Given the description of an element on the screen output the (x, y) to click on. 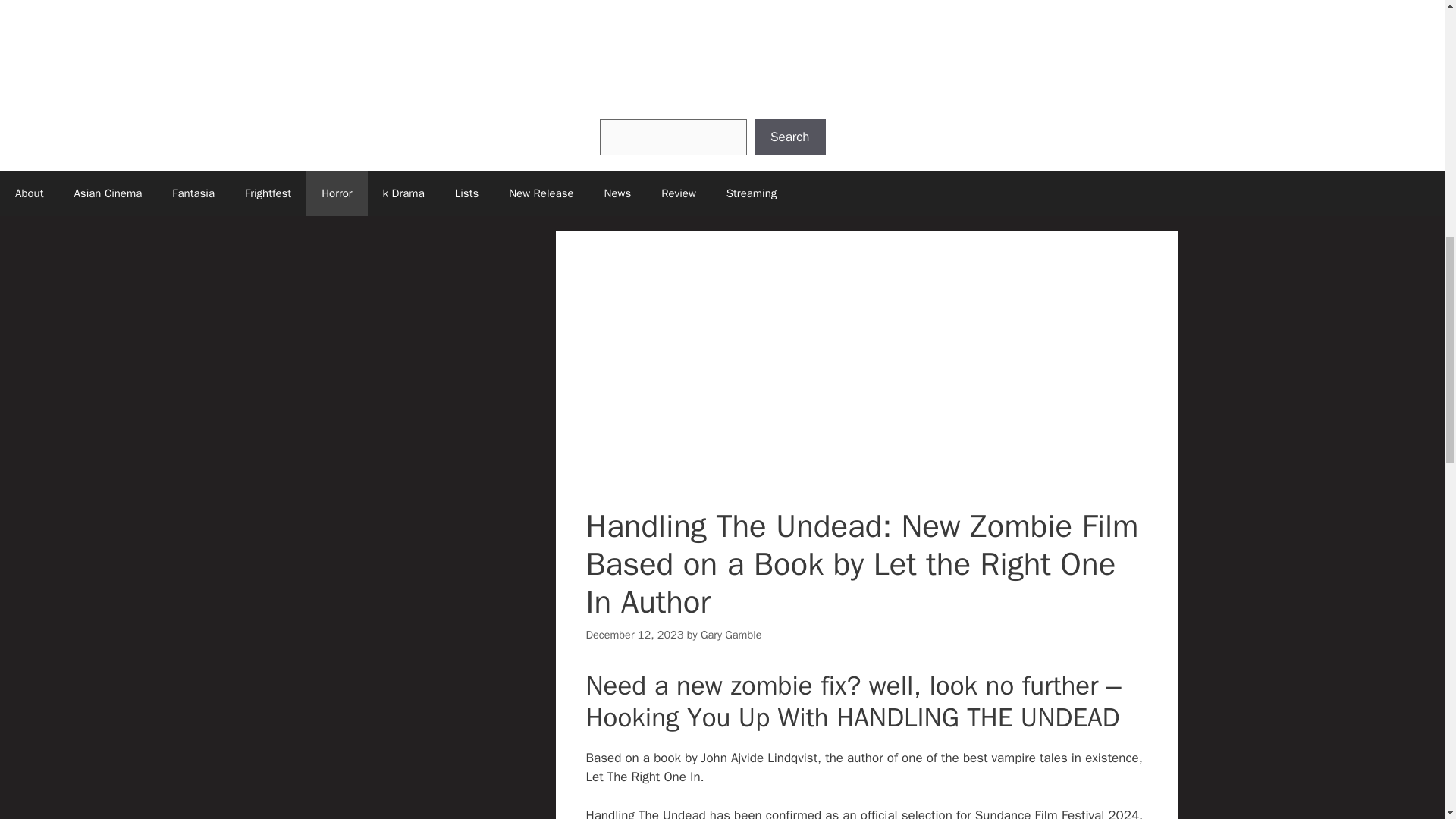
Horror (335, 192)
Lists (466, 192)
Streaming (751, 192)
Scroll back to top (1406, 720)
Asian Cinema (107, 192)
Frightfest (267, 192)
Search (789, 136)
About (29, 192)
k Drama (403, 192)
News (617, 192)
